Given the description of an element on the screen output the (x, y) to click on. 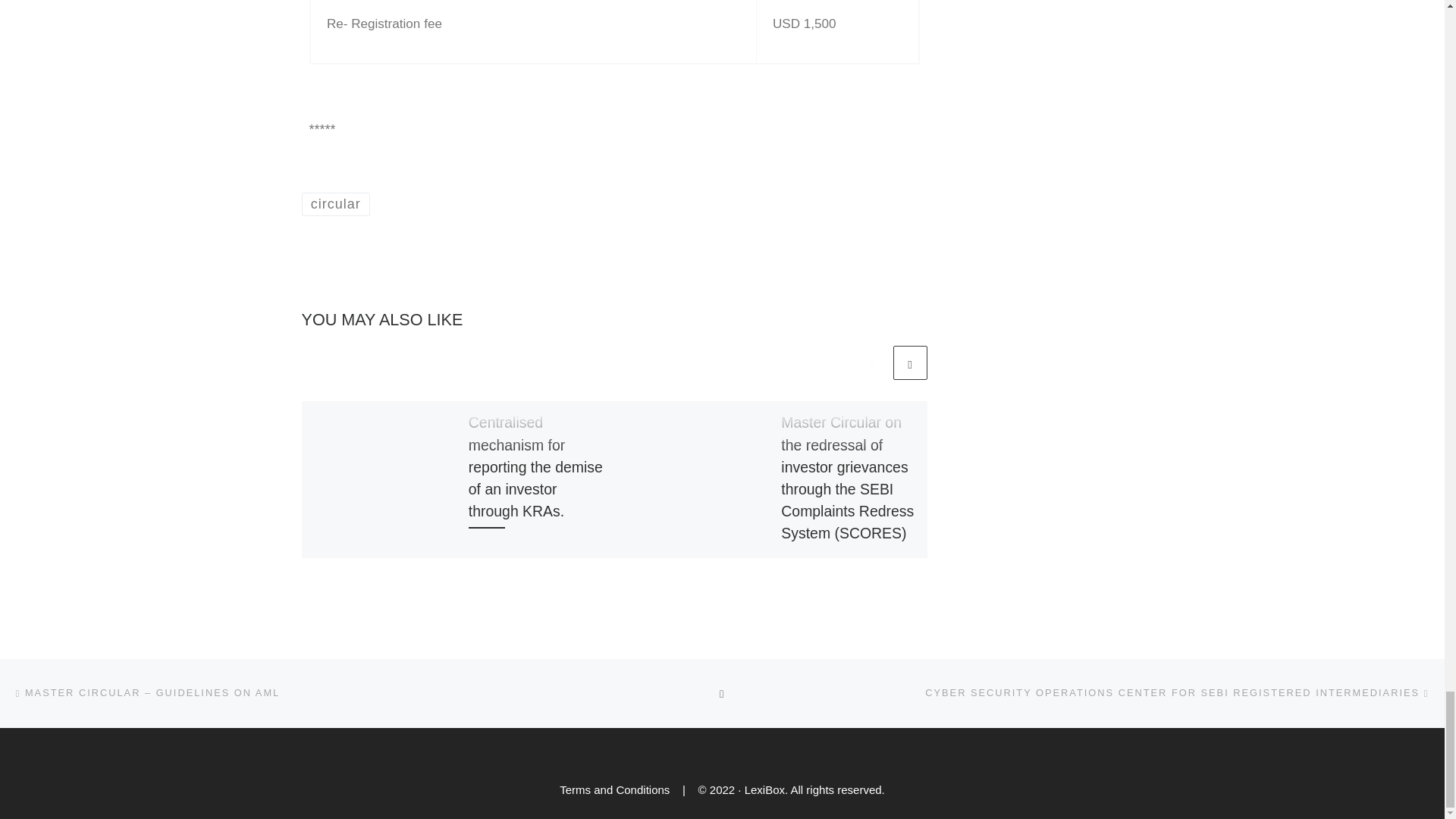
Terms and Conditions (614, 789)
Previous related articles (872, 362)
View all posts in circular (336, 204)
Next related articles (910, 362)
circular (336, 204)
